Given the description of an element on the screen output the (x, y) to click on. 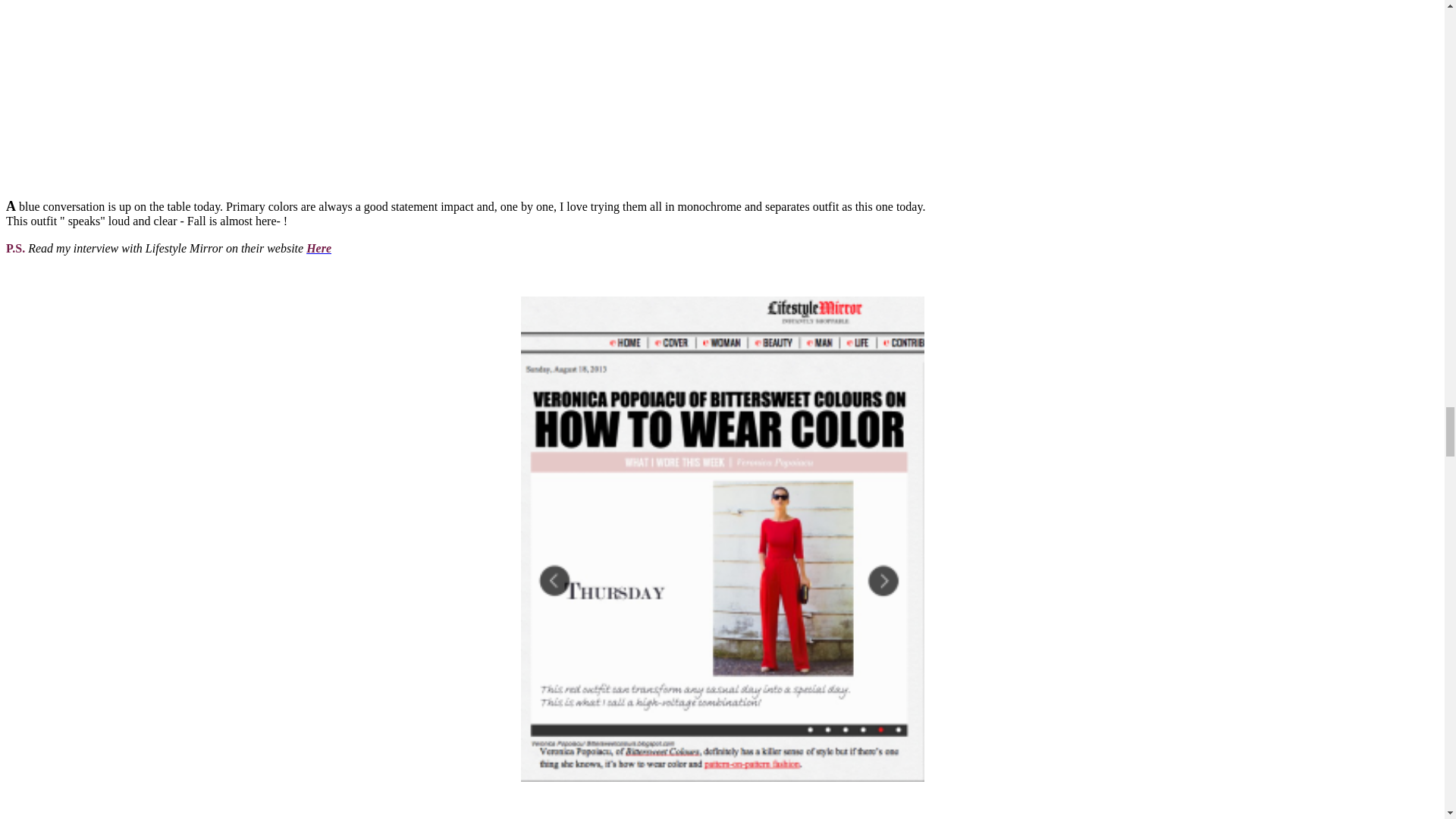
Here (318, 247)
